Given the description of an element on the screen output the (x, y) to click on. 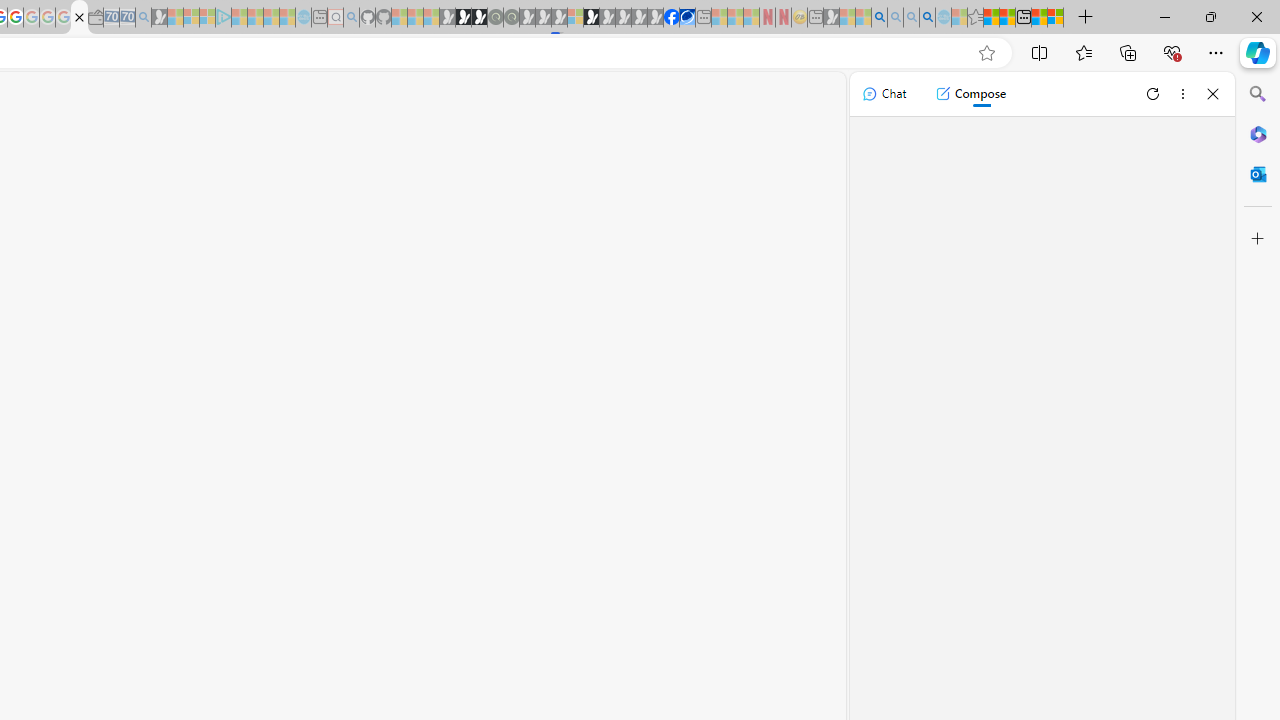
Google Chrome Internet Browser Download - Search Images (927, 17)
Sign in to your account - Sleeping (575, 17)
Future Focus Report 2024 - Sleeping (511, 17)
Bing AI - Search (879, 17)
